Given the description of an element on the screen output the (x, y) to click on. 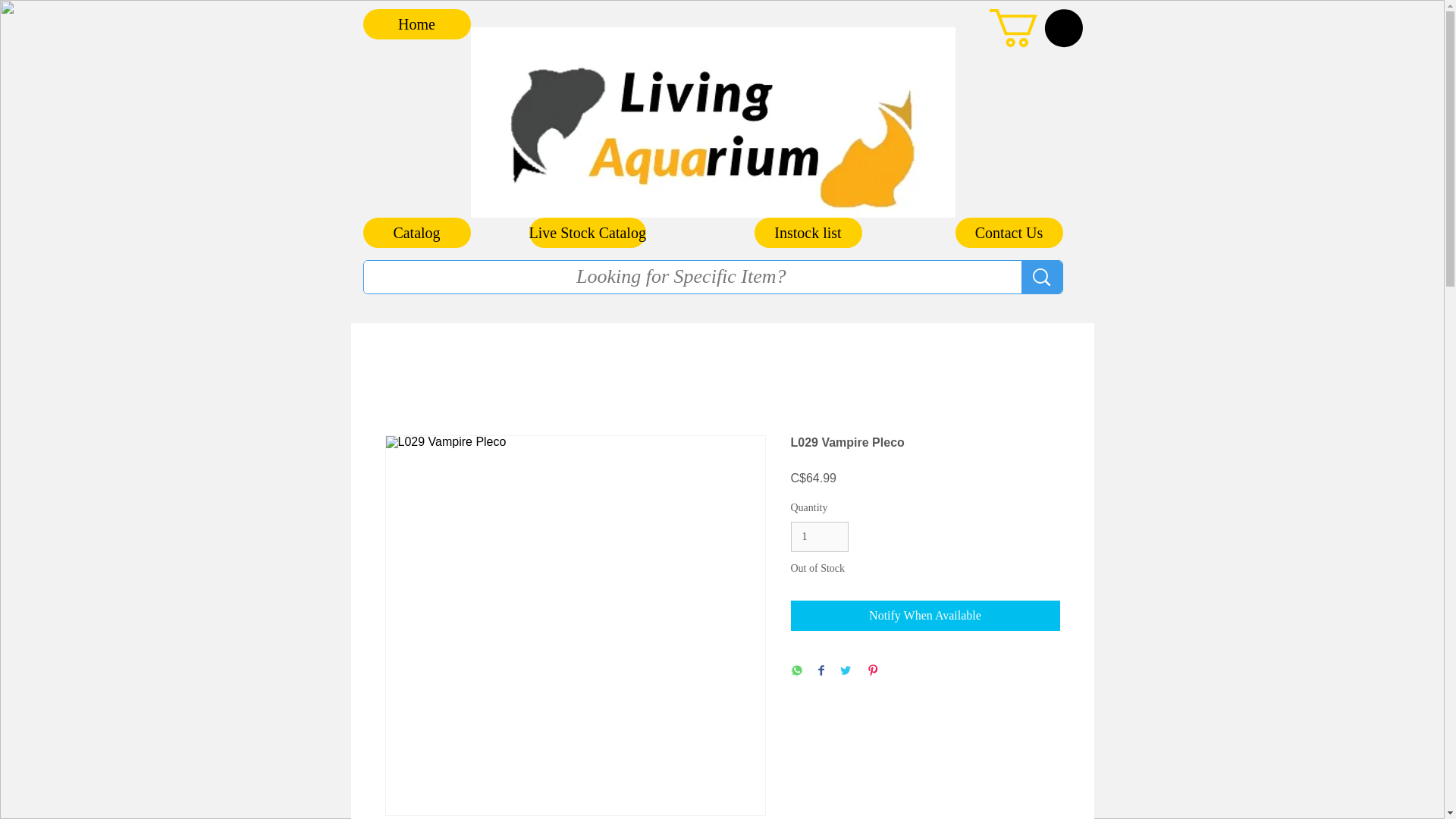
Home (416, 24)
Catalog (416, 232)
Instock list (807, 232)
Living Aquarium Logo.jpeg (712, 122)
Live Stock Catalog (587, 232)
Notify When Available (924, 615)
1 (818, 536)
Contact Us (1008, 232)
